Given the description of an element on the screen output the (x, y) to click on. 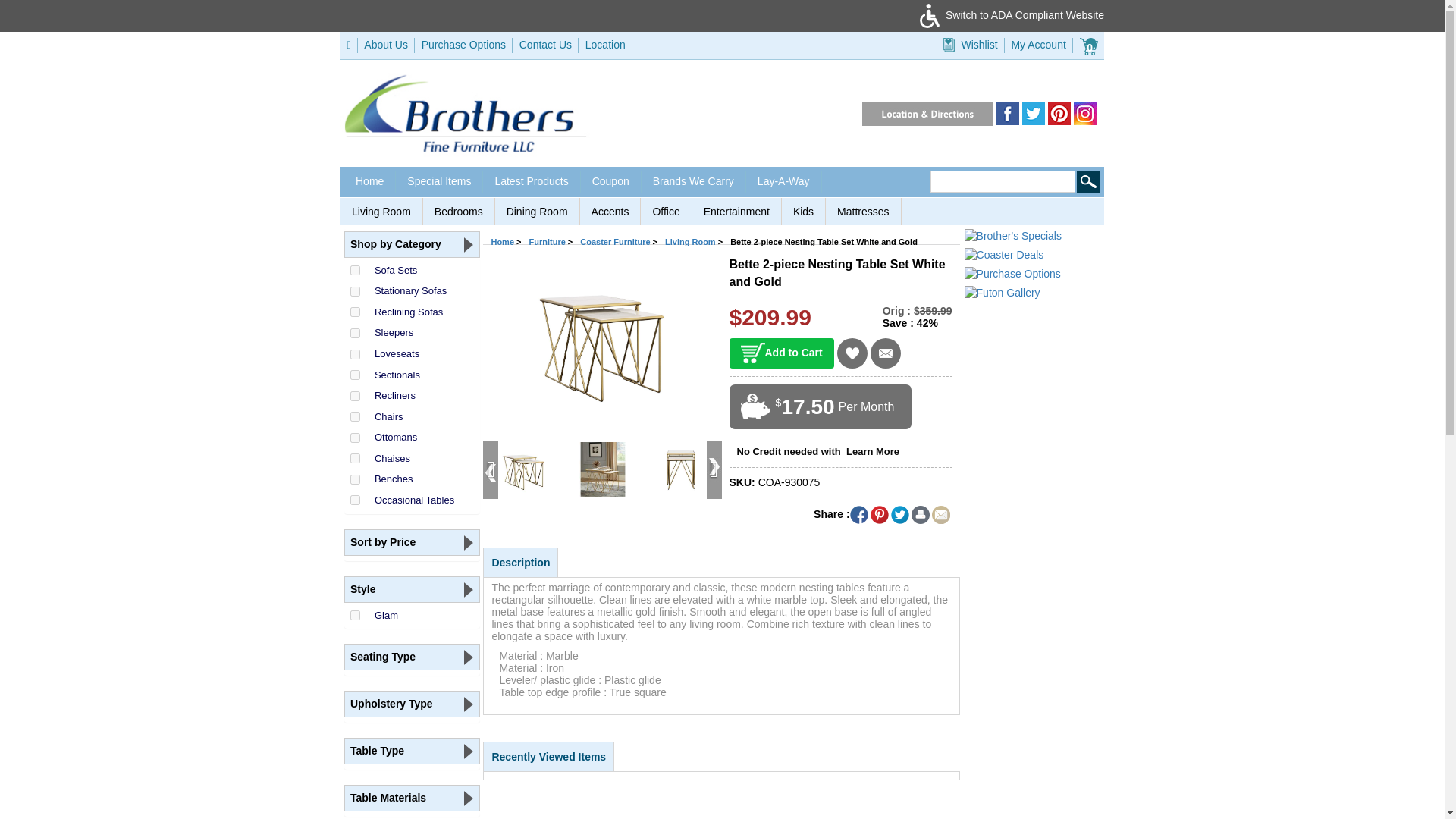
17 (354, 479)
13 (354, 396)
Visit our Purchase Options (463, 44)
My Account (1037, 44)
18 (354, 333)
Purchase Options (463, 44)
11 (354, 291)
12 (354, 375)
Switch to ADA Compliant Website (1008, 15)
20 (354, 500)
